Given the description of an element on the screen output the (x, y) to click on. 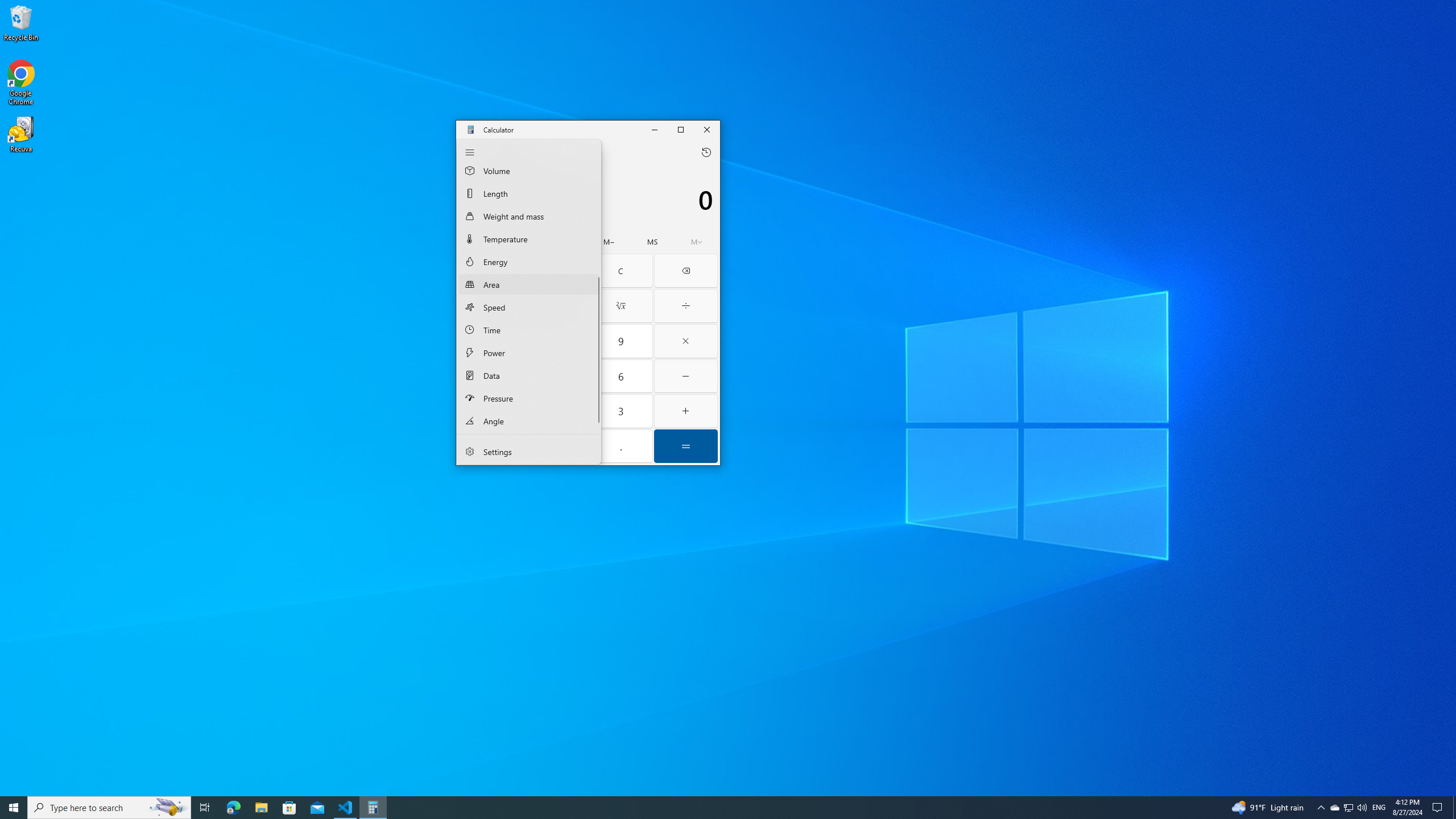
Microsoft Store (289, 807)
One (490, 410)
Angle Converter (528, 420)
Q2790: 100% (1361, 807)
Open memory flyout (696, 241)
Vertical (597, 297)
Nine (620, 341)
Power Converter (528, 352)
Memory store (652, 241)
Three (620, 410)
Backspace (685, 270)
Microsoft Edge (1333, 807)
Reciprocal (233, 807)
Type here to search (490, 305)
